Given the description of an element on the screen output the (x, y) to click on. 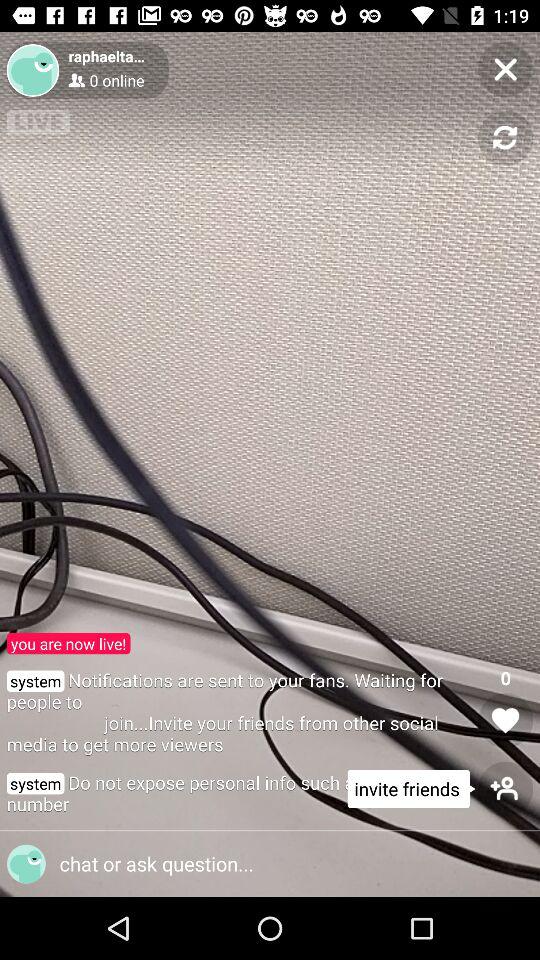
refresh button (505, 137)
